Given the description of an element on the screen output the (x, y) to click on. 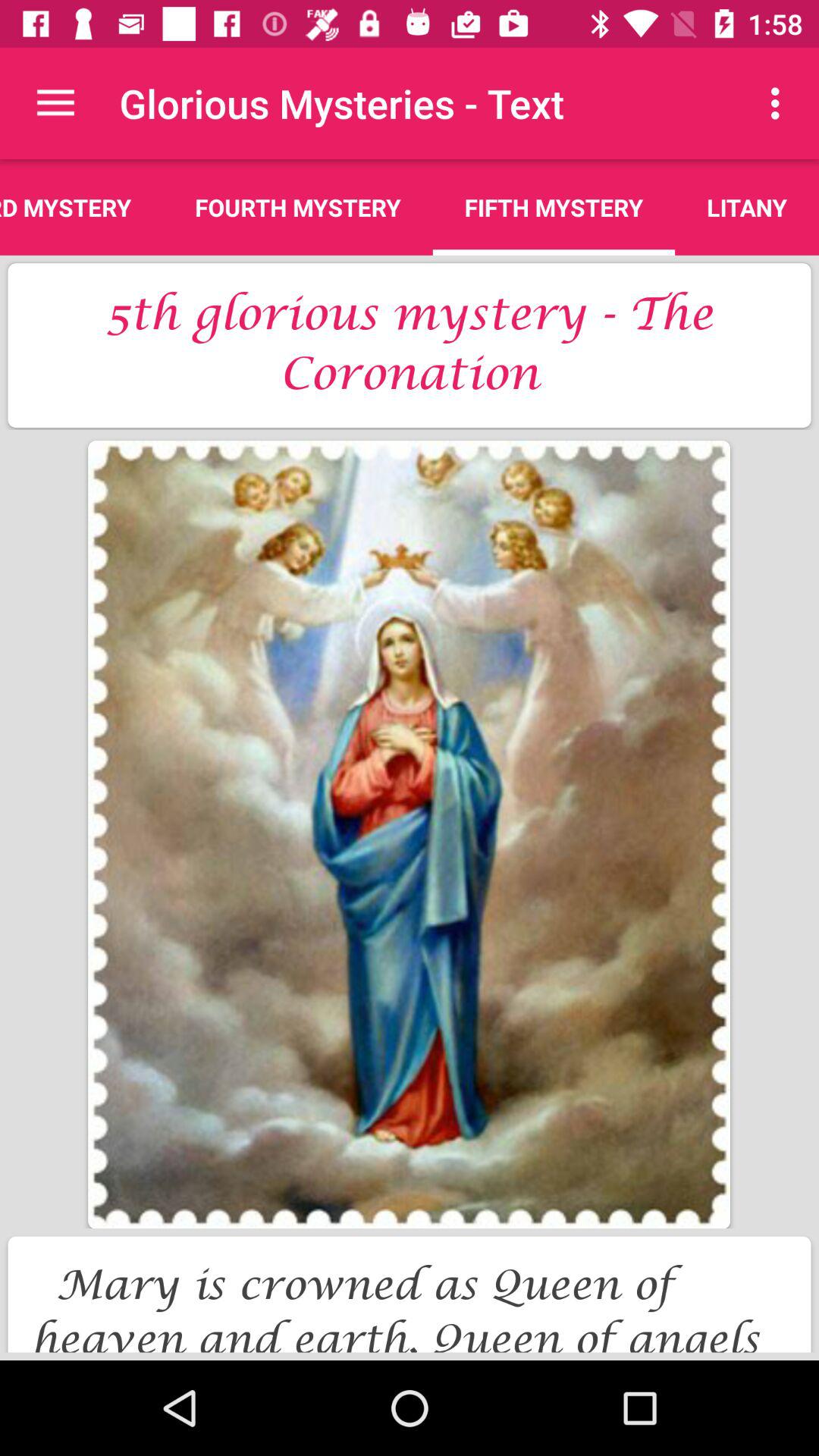
tap the icon at the center (409, 834)
